Given the description of an element on the screen output the (x, y) to click on. 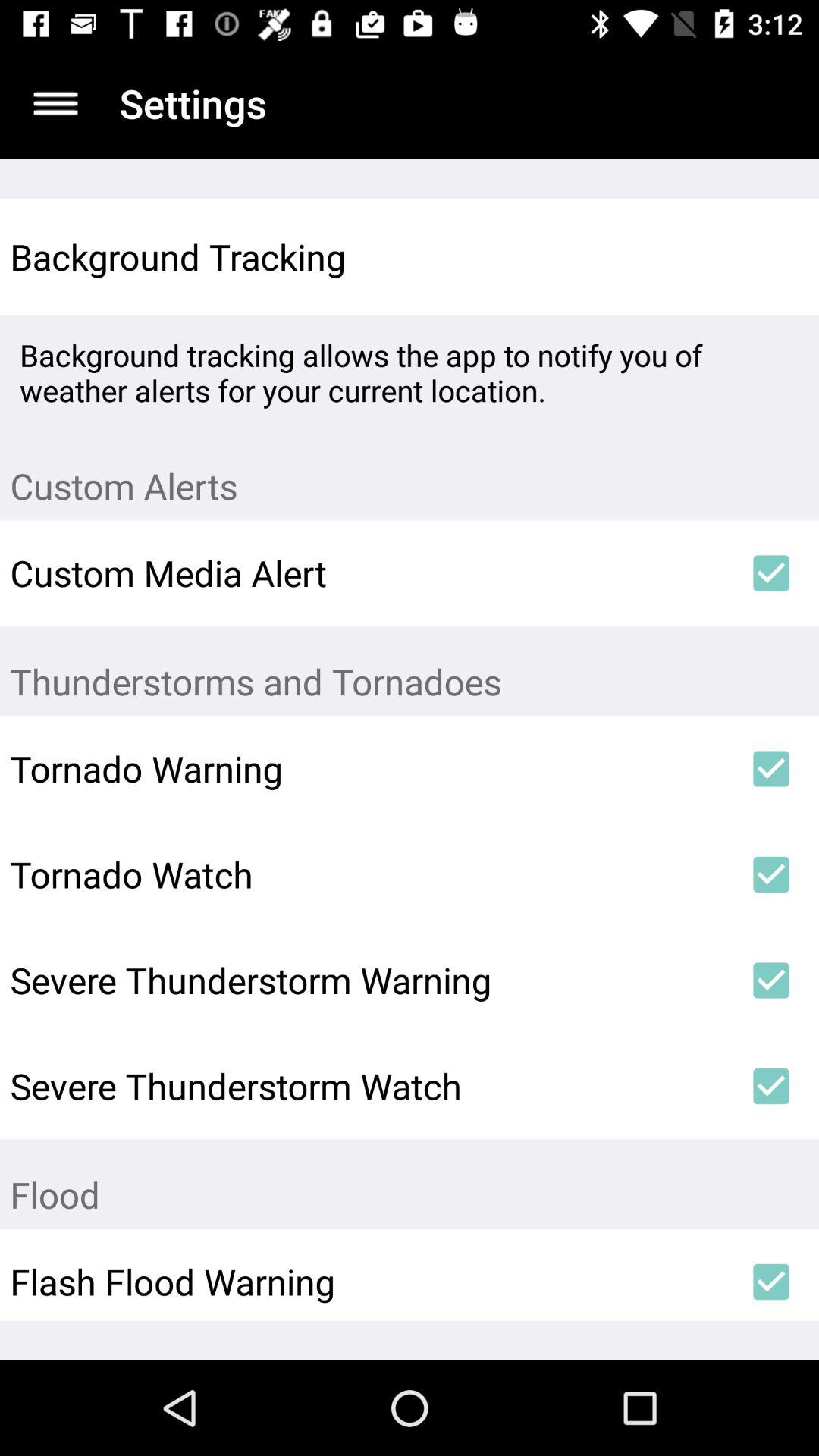
click the icon next to the tornado watch icon (771, 874)
